Given the description of an element on the screen output the (x, y) to click on. 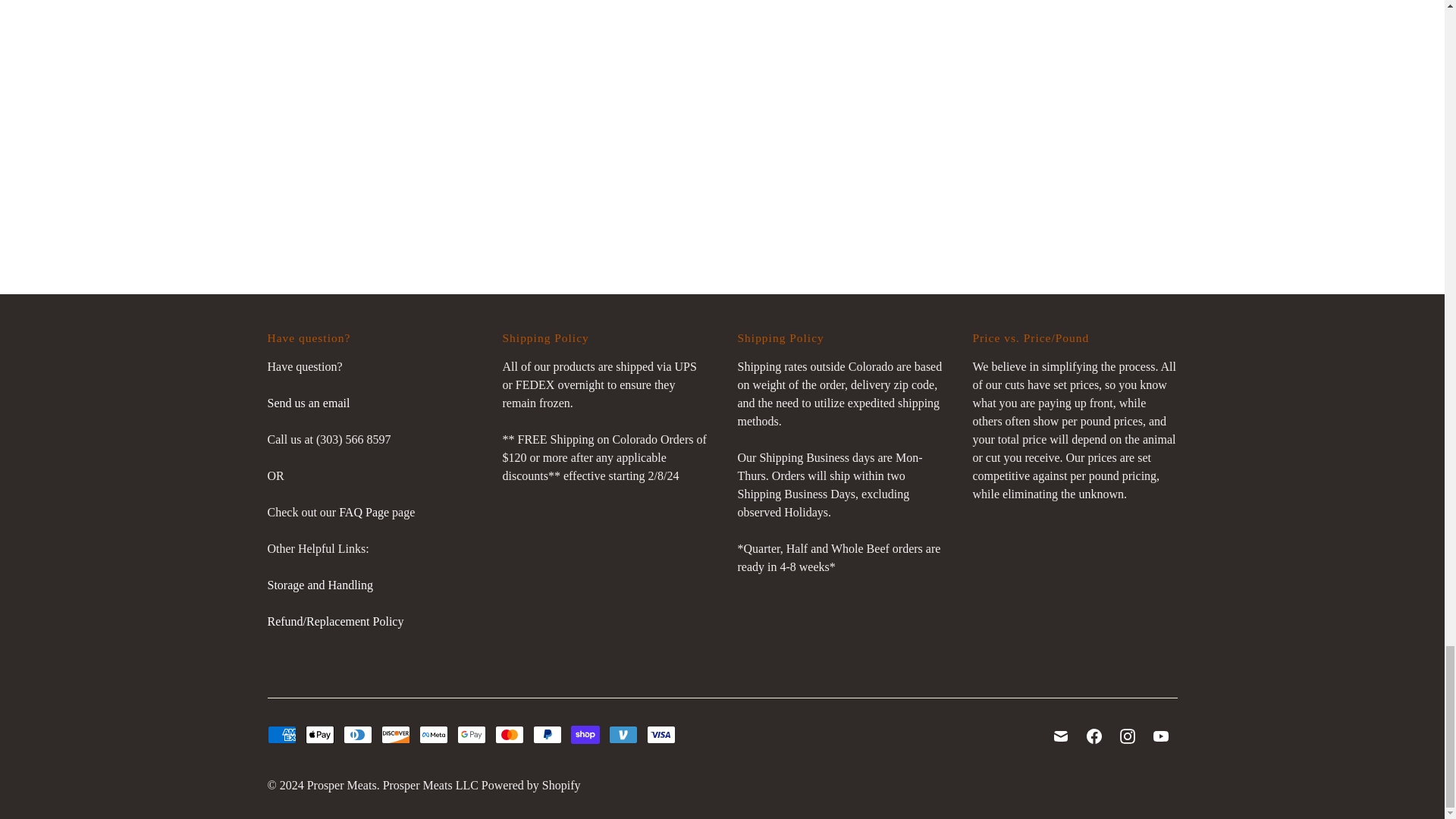
Discover (394, 734)
Apple Pay (318, 734)
Storage and Handling Guidelines (319, 584)
Mastercard (508, 734)
American Express (280, 734)
PayPal (546, 734)
Diners Club (356, 734)
Venmo (622, 734)
FAQs (363, 512)
Contact Prosper Meats (307, 402)
